Given the description of an element on the screen output the (x, y) to click on. 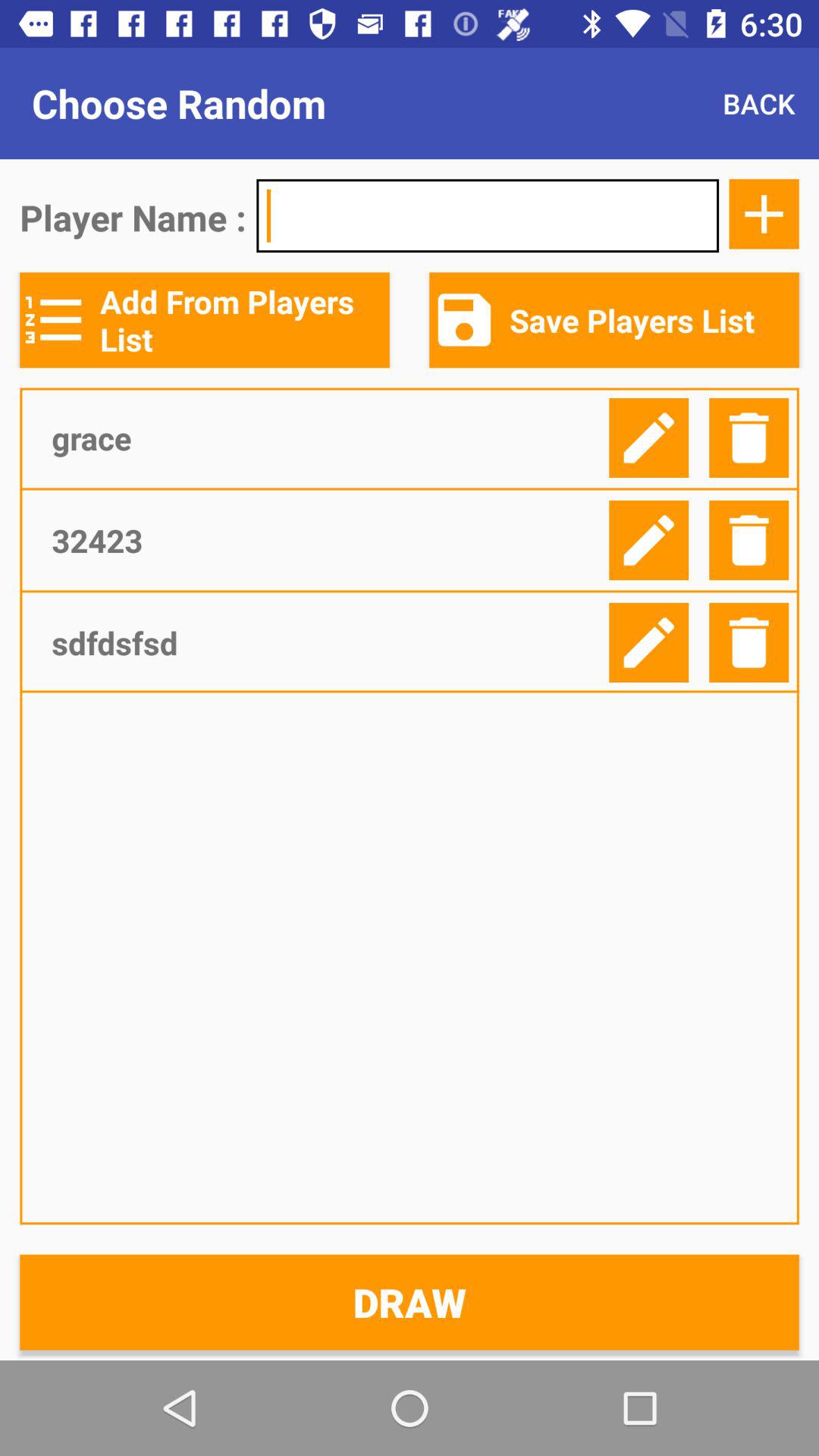
edit (648, 540)
